Given the description of an element on the screen output the (x, y) to click on. 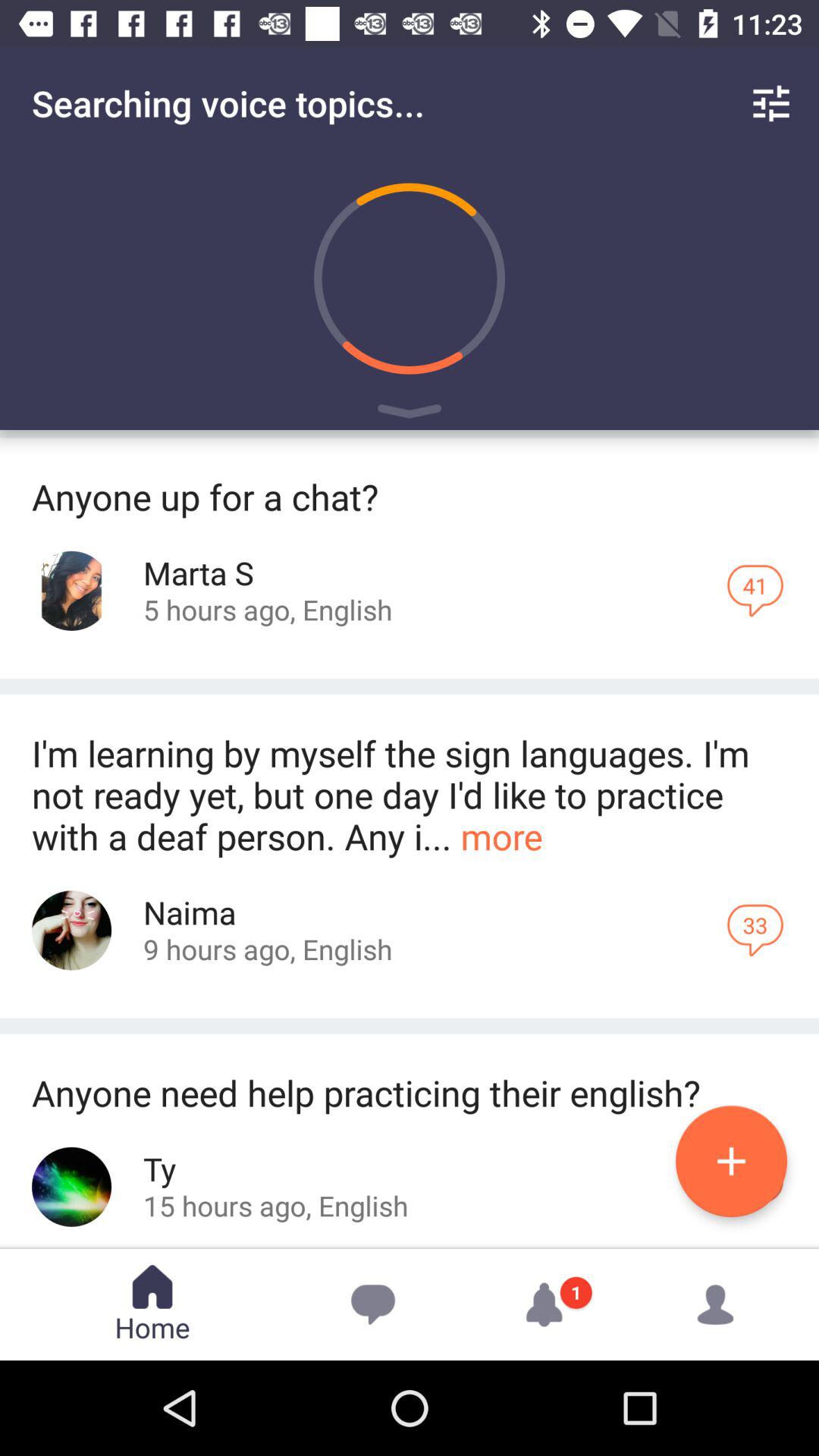
sherch page (71, 930)
